Given the description of an element on the screen output the (x, y) to click on. 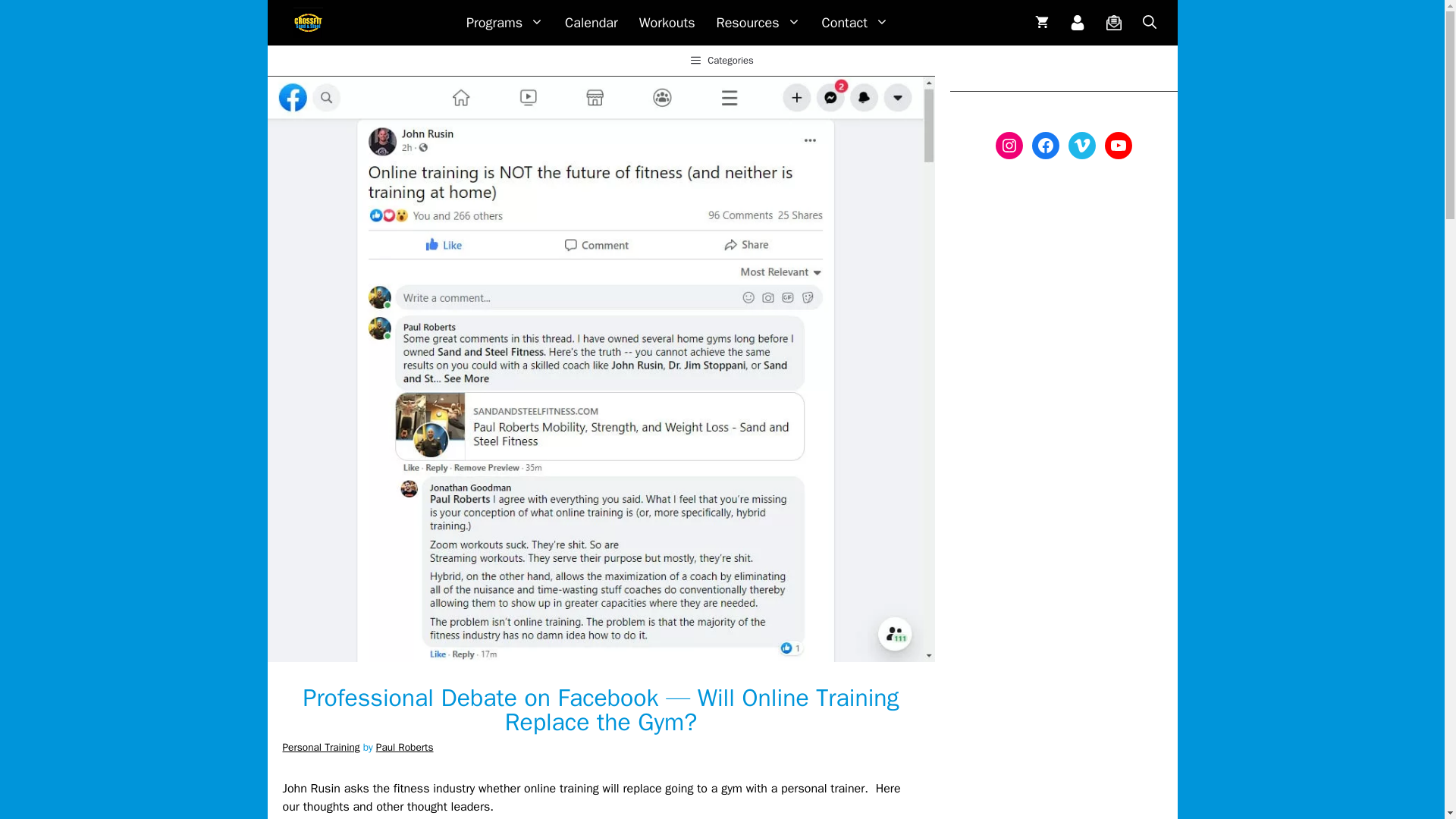
Programs (504, 22)
Workouts (667, 22)
Calendar (591, 22)
View your shopping cart (1040, 22)
View all posts by Paul Roberts (404, 747)
Resources (758, 22)
Contact (854, 22)
